Given the description of an element on the screen output the (x, y) to click on. 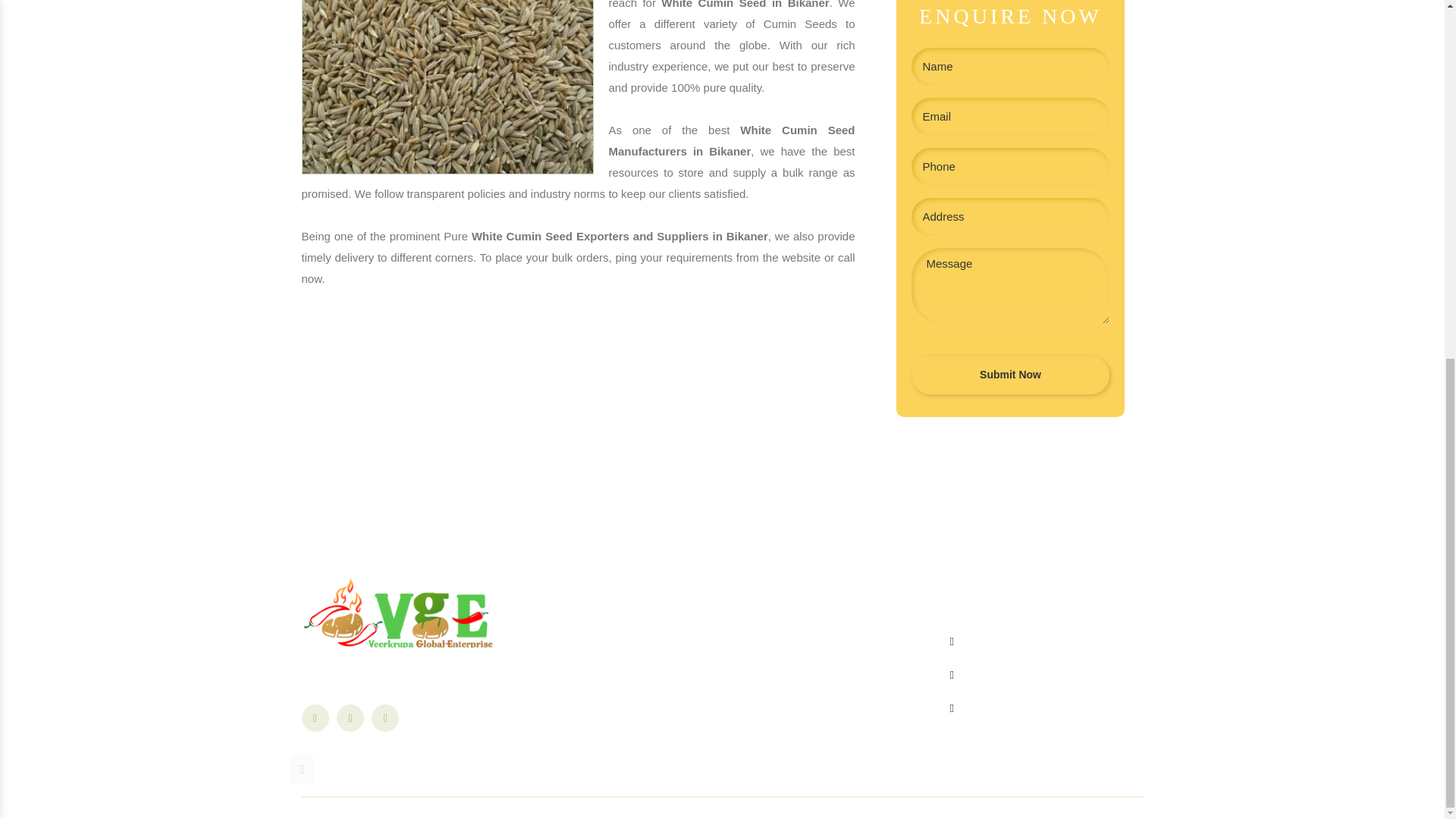
Submit Now (1010, 374)
